Given the description of an element on the screen output the (x, y) to click on. 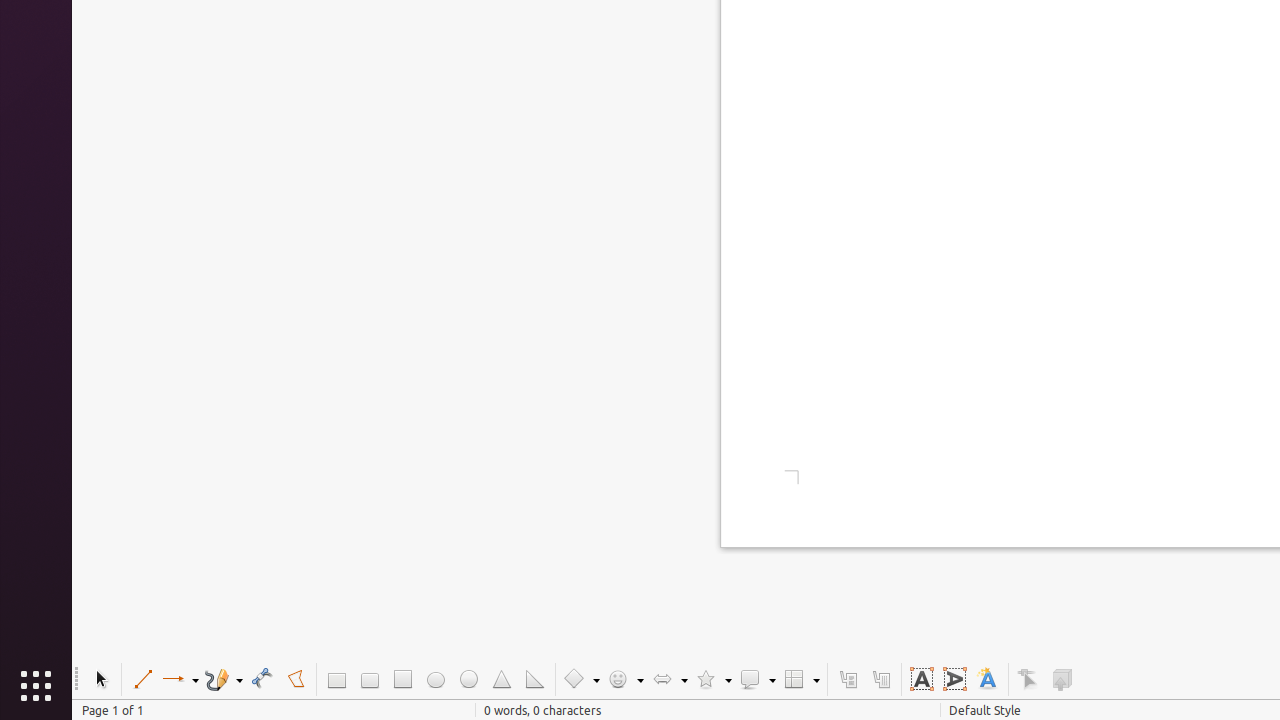
Toggle Extrusion Element type: push-button (1061, 679)
Lines and Arrows Element type: push-button (180, 679)
Basic Shapes Element type: push-button (581, 679)
Star Shapes Element type: push-button (713, 679)
Rectangle Element type: push-button (336, 679)
